Given the description of an element on the screen output the (x, y) to click on. 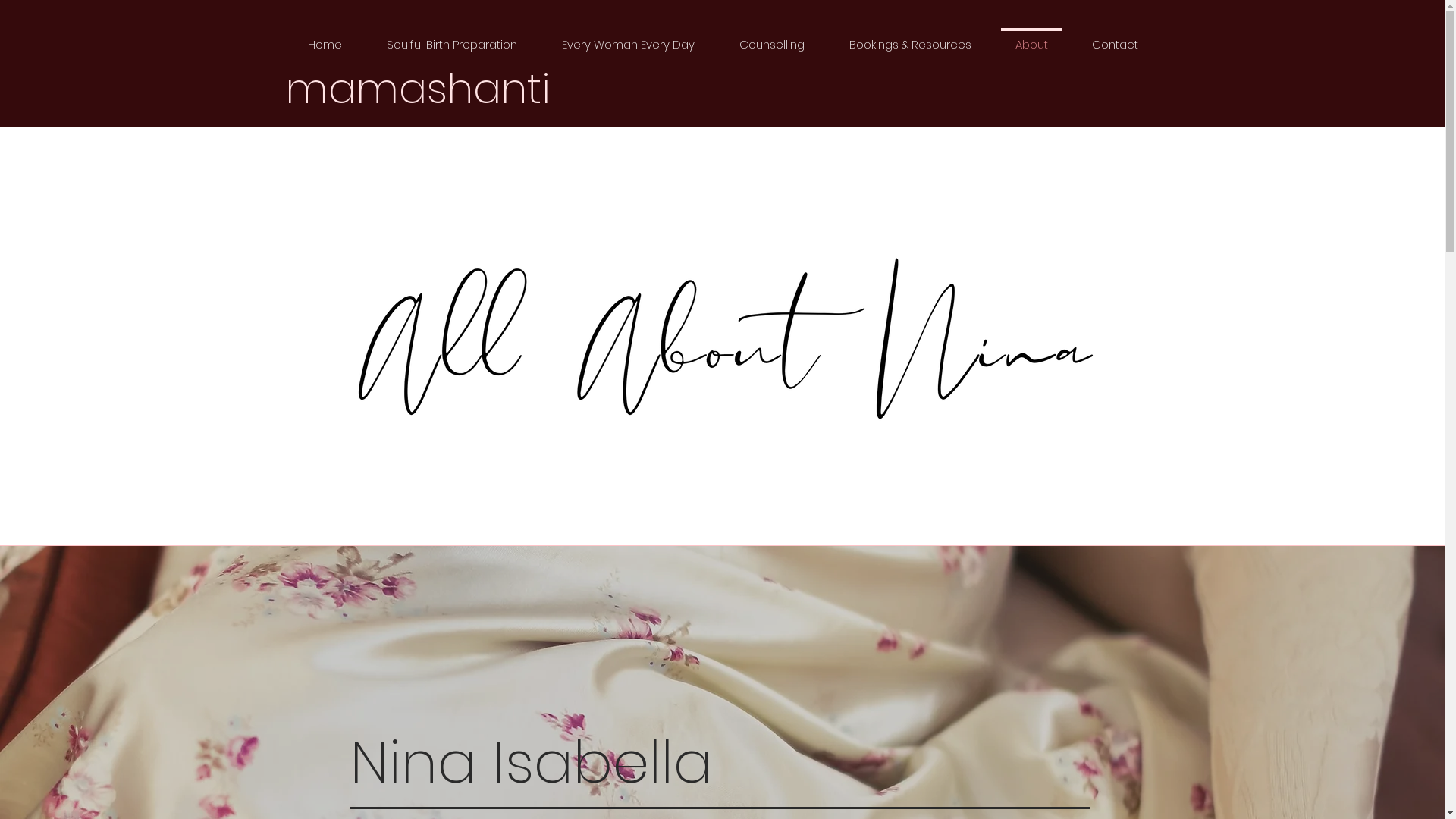
About Element type: text (1031, 37)
Soulful Birth Preparation Element type: text (451, 37)
Every Woman Every Day Element type: text (628, 37)
Bookings & Resources Element type: text (909, 37)
Counselling Element type: text (772, 37)
mamashanti Element type: text (417, 88)
Contact Element type: text (1114, 37)
Home Element type: text (324, 37)
